Given the description of an element on the screen output the (x, y) to click on. 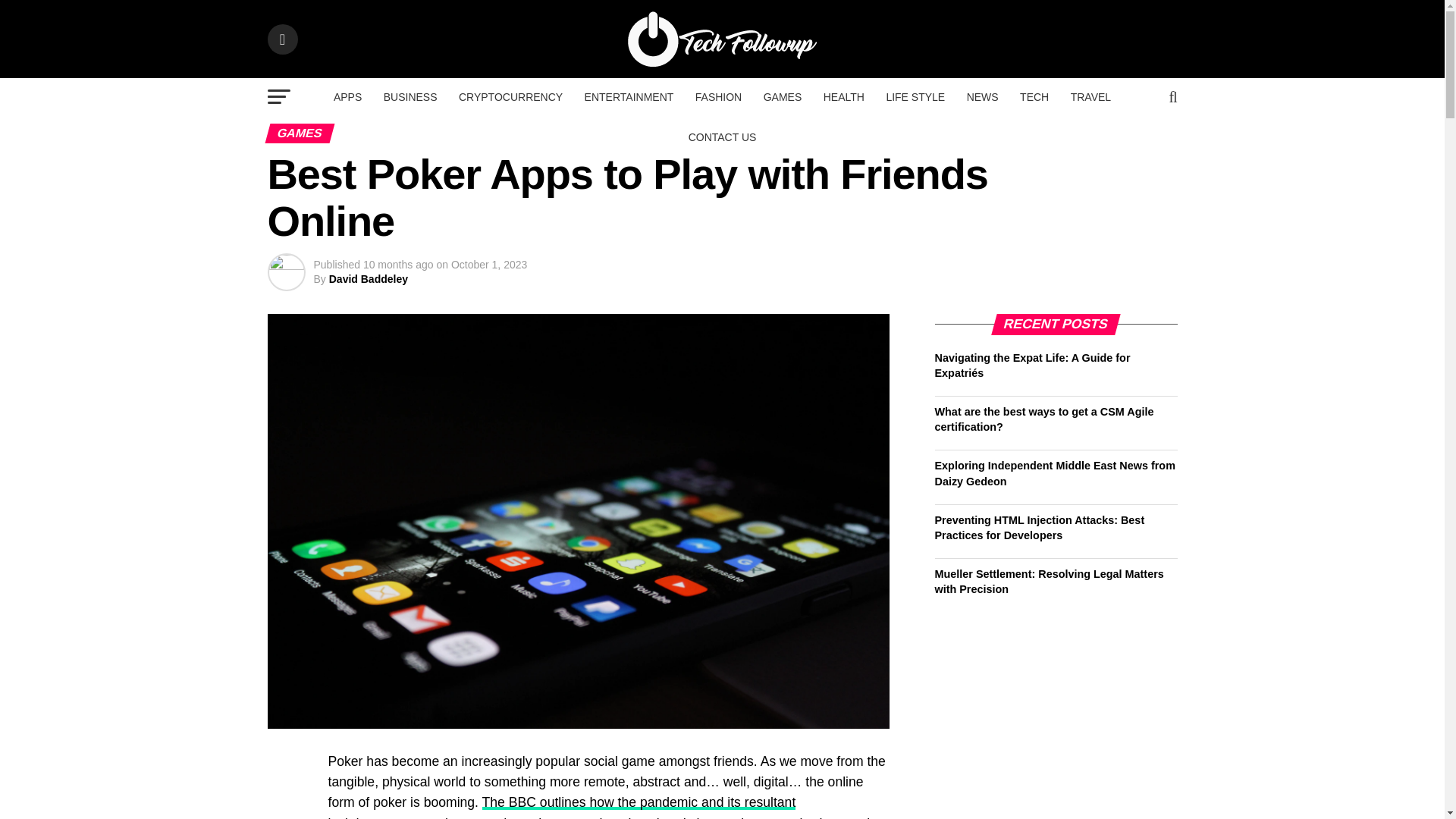
CRYPTOCURRENCY (510, 96)
BUSINESS (410, 96)
APPS (347, 96)
Posts by David Baddeley (368, 278)
ENTERTAINMENT (628, 96)
